Given the description of an element on the screen output the (x, y) to click on. 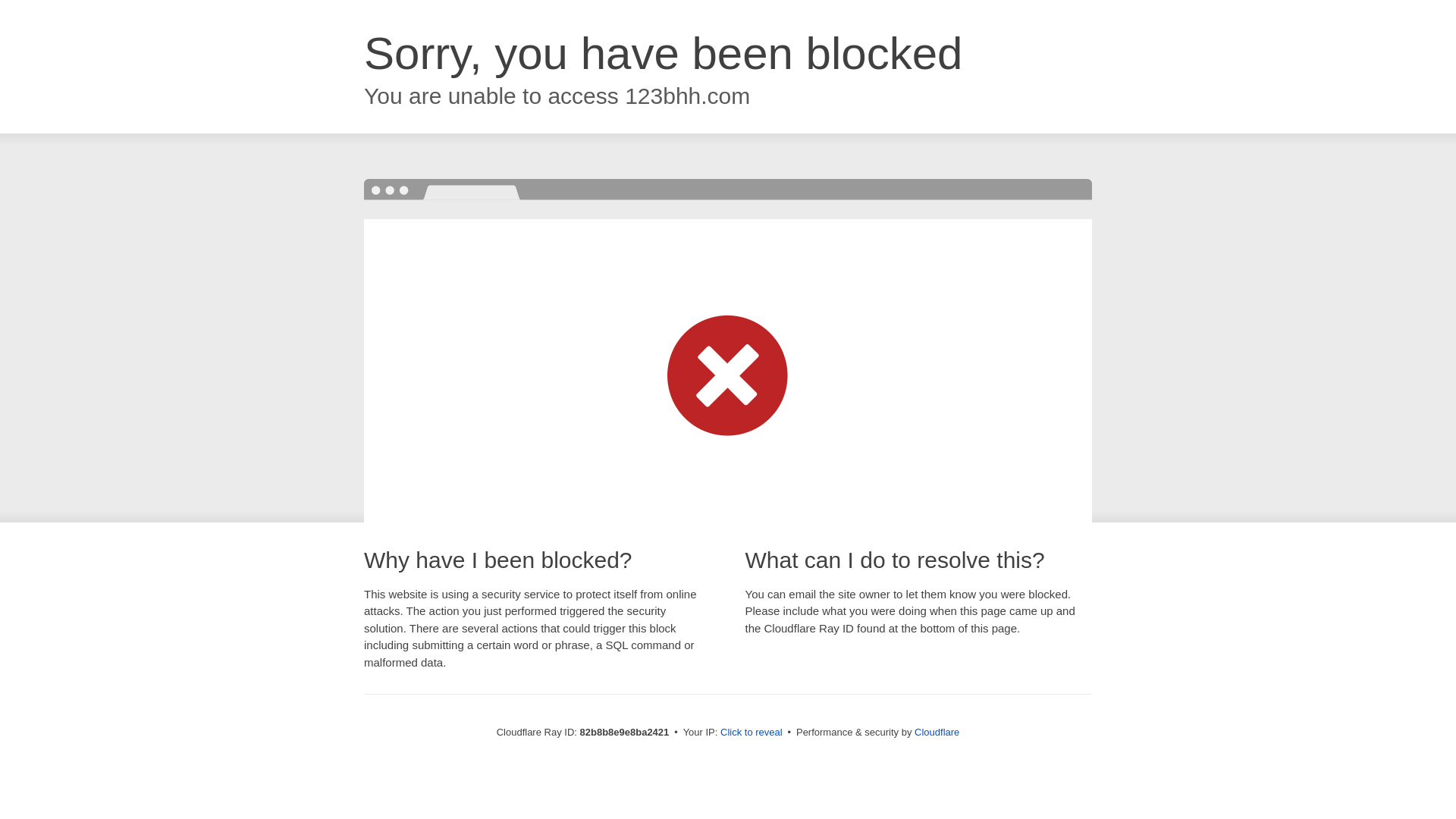
Cloudflare Element type: text (936, 731)
Click to reveal Element type: text (751, 732)
